Given the description of an element on the screen output the (x, y) to click on. 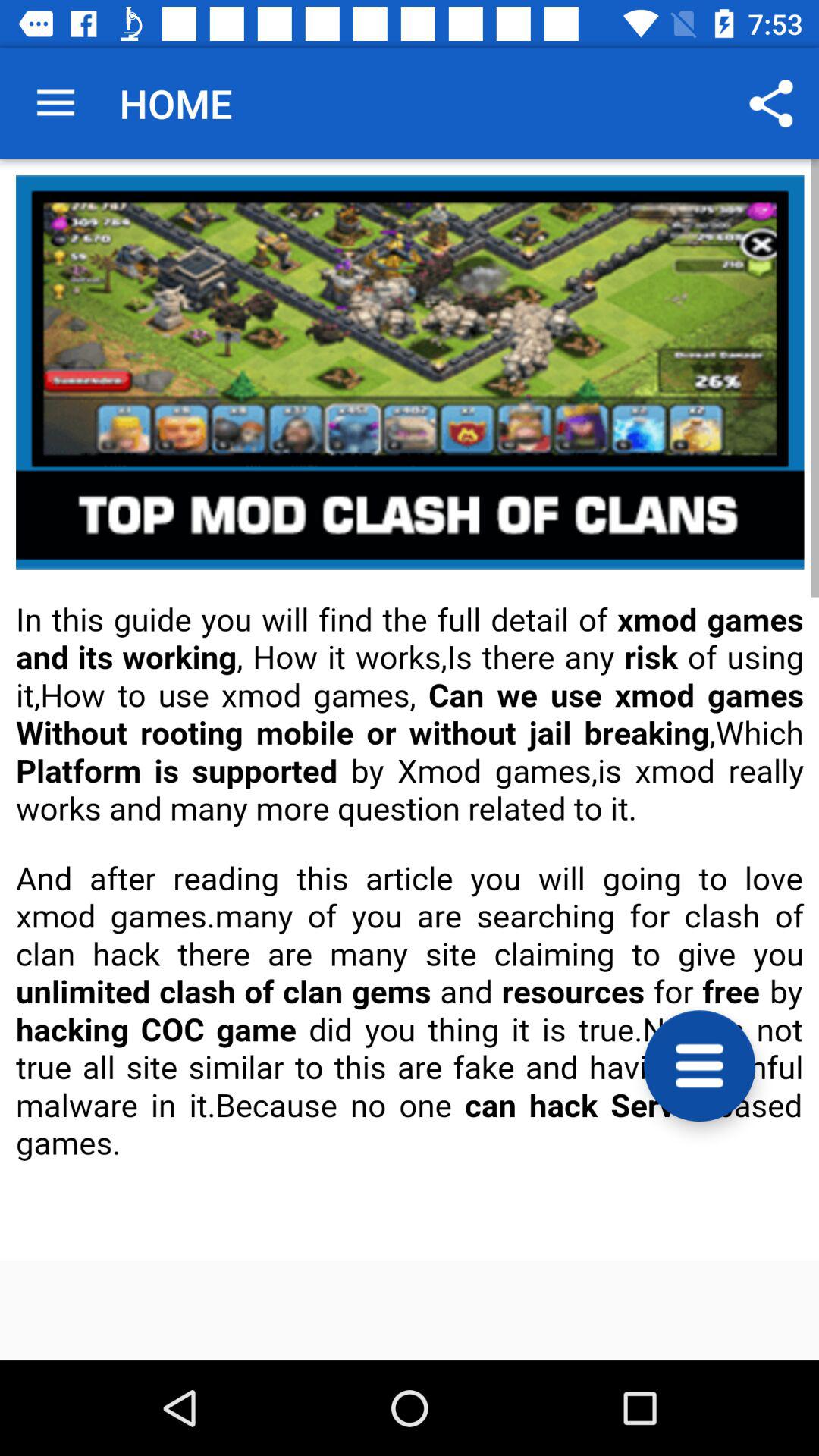
show options (699, 1065)
